Given the description of an element on the screen output the (x, y) to click on. 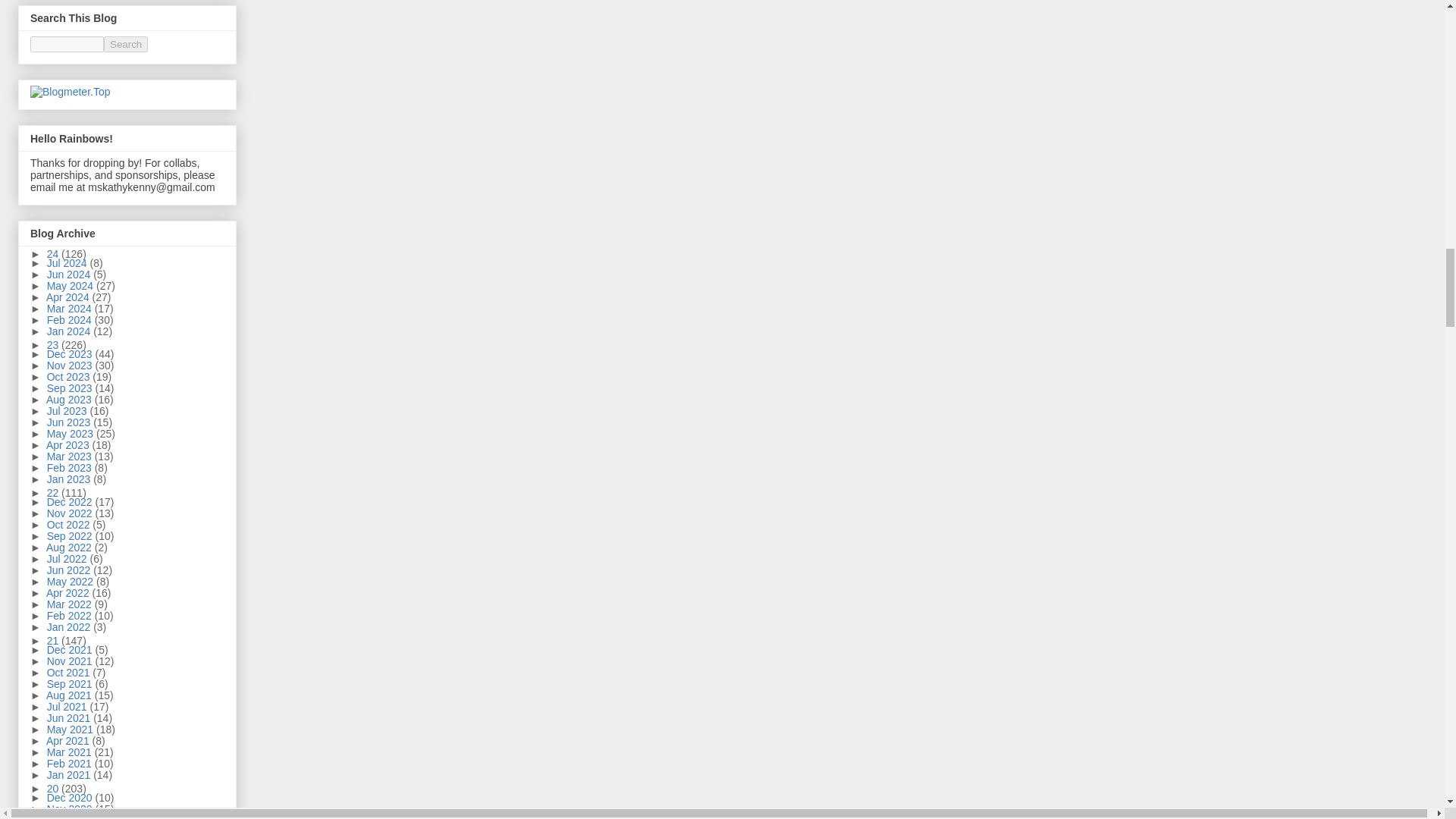
Apr 2024 (69, 297)
23 (53, 345)
May 2024 (71, 285)
Jan 2024 (70, 331)
Jul 2024 (68, 263)
24 (53, 254)
Feb 2024 (70, 319)
Mar 2024 (70, 308)
search (125, 44)
Jun 2024 (70, 274)
Search (125, 44)
search (66, 44)
Search (125, 44)
Search (125, 44)
